Given the description of an element on the screen output the (x, y) to click on. 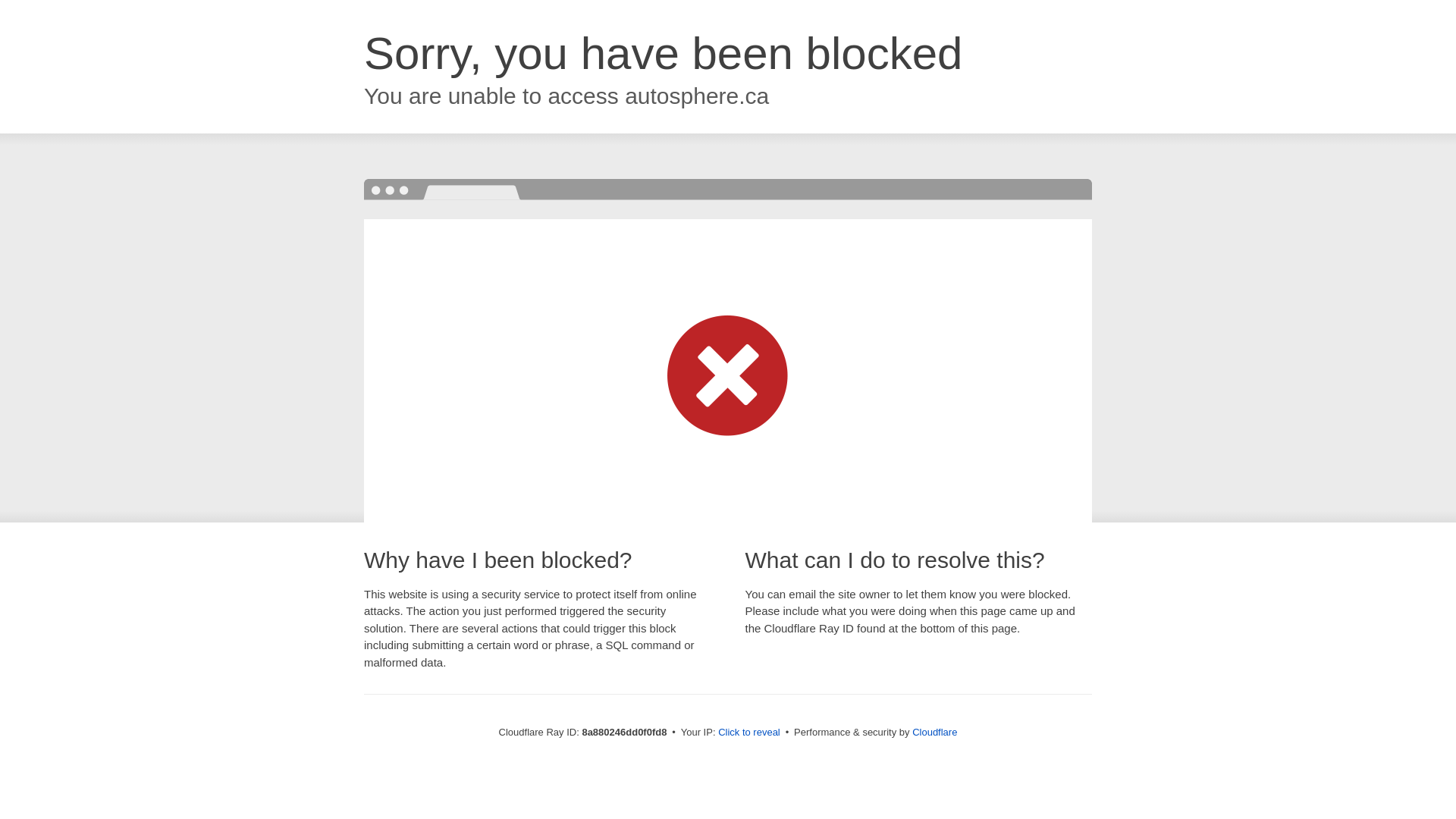
Cloudflare (934, 731)
Click to reveal (748, 732)
